Given the description of an element on the screen output the (x, y) to click on. 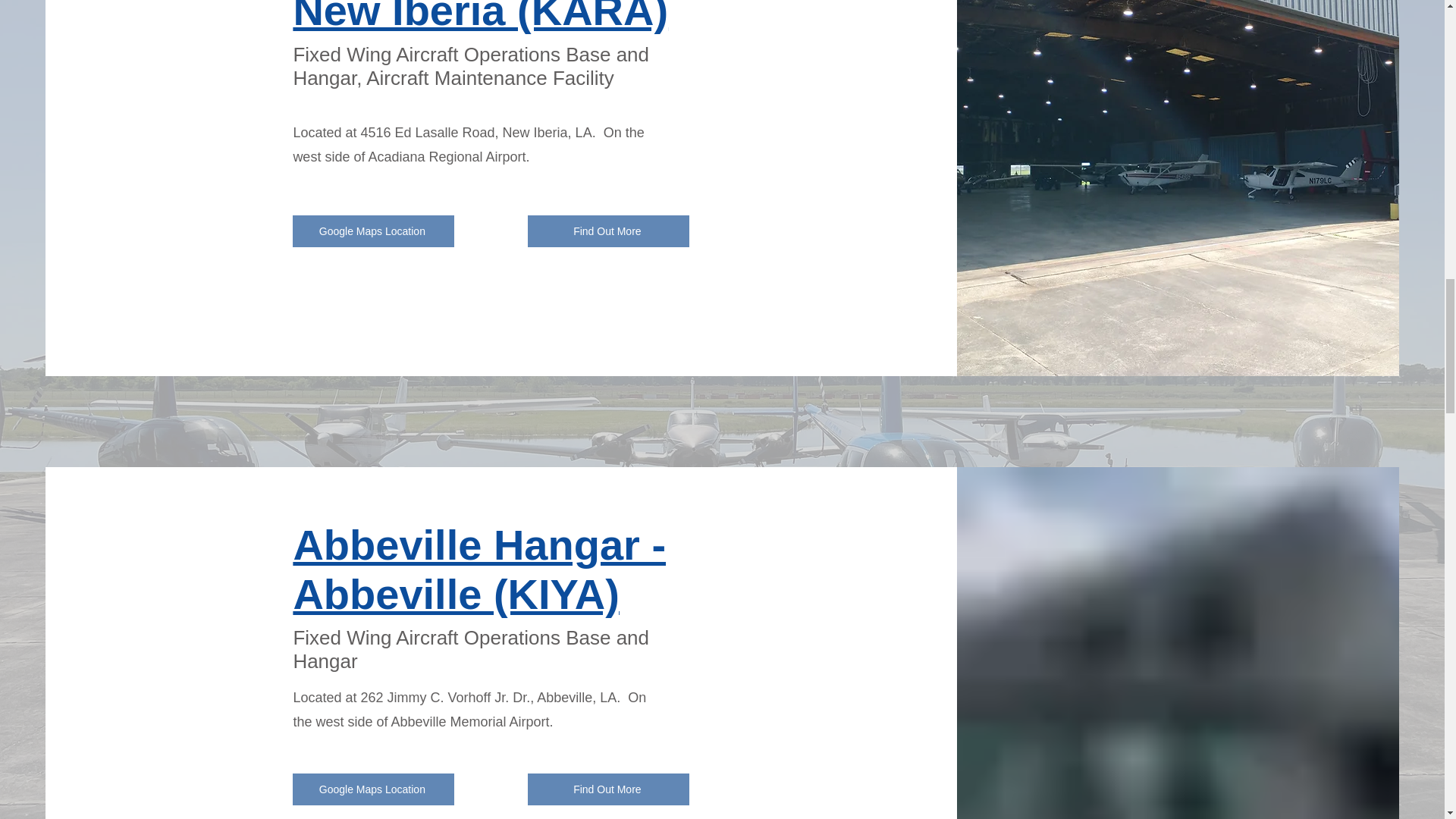
Find Out More (607, 789)
Find Out More (607, 231)
Google Maps Location (373, 231)
Google Maps Location (373, 789)
